Given the description of an element on the screen output the (x, y) to click on. 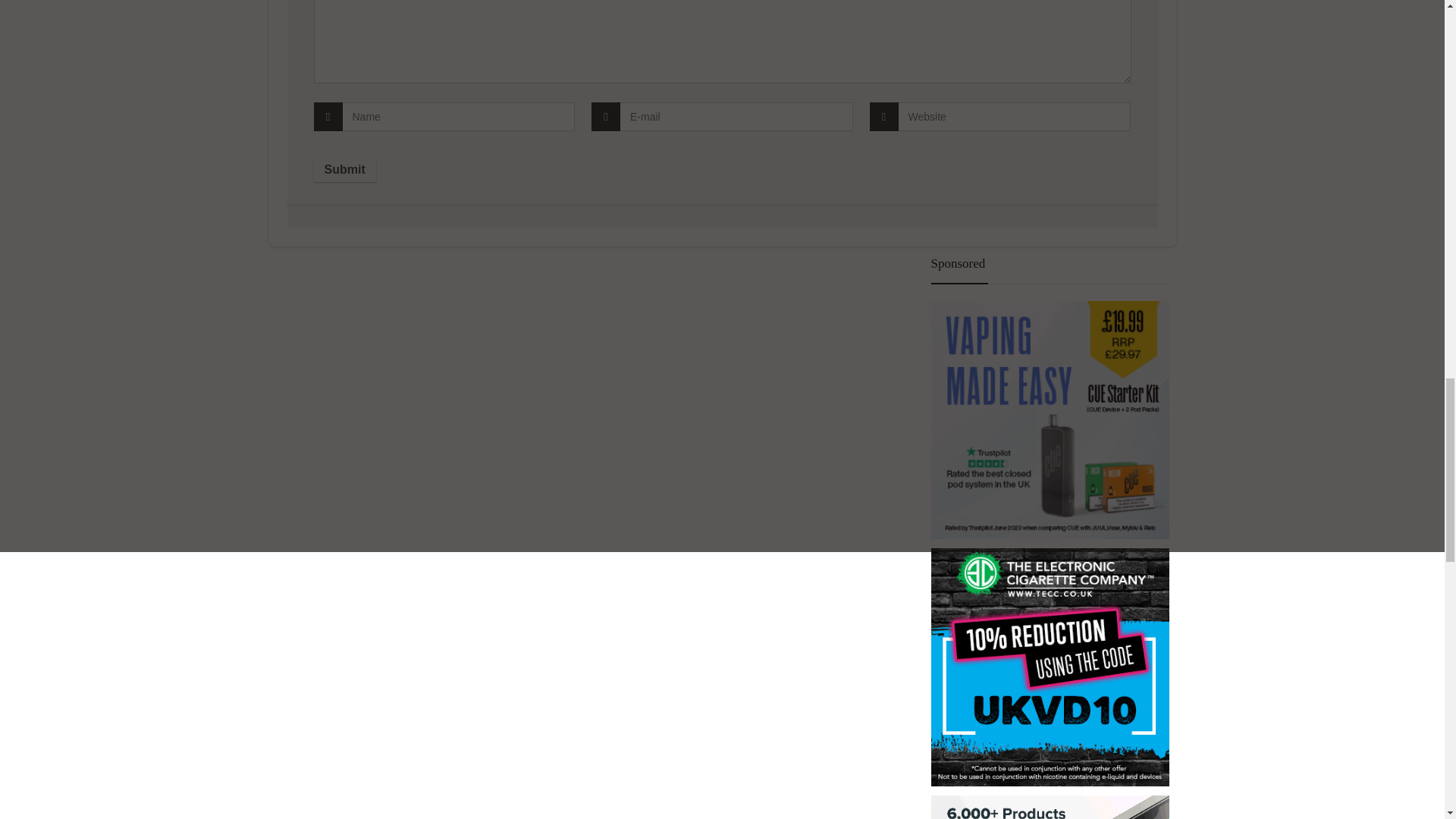
Submit (344, 169)
Submit (344, 169)
